Given the description of an element on the screen output the (x, y) to click on. 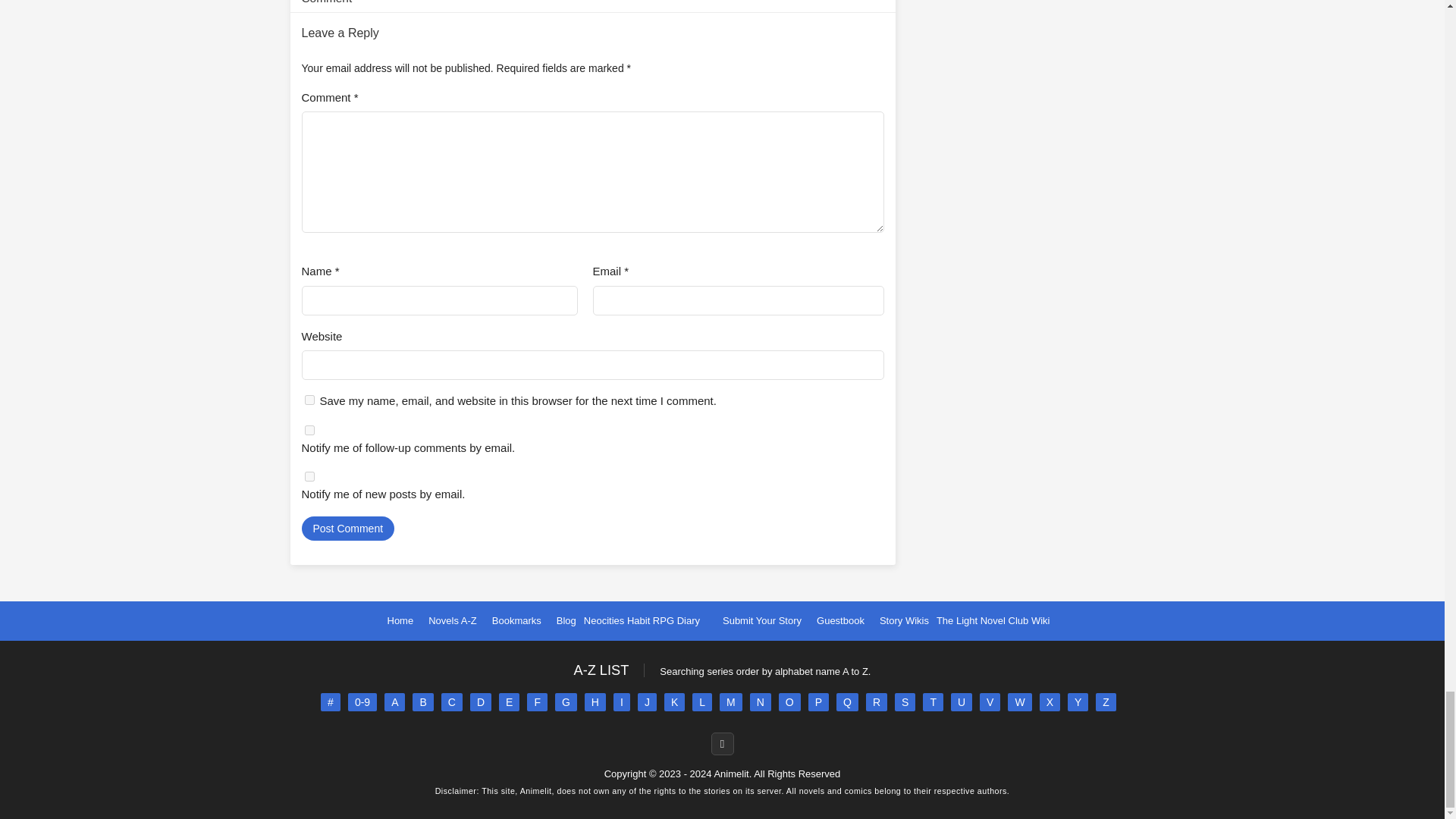
Post Comment (347, 528)
subscribe (309, 476)
subscribe (309, 429)
yes (309, 399)
Post Comment (347, 528)
